Given the description of an element on the screen output the (x, y) to click on. 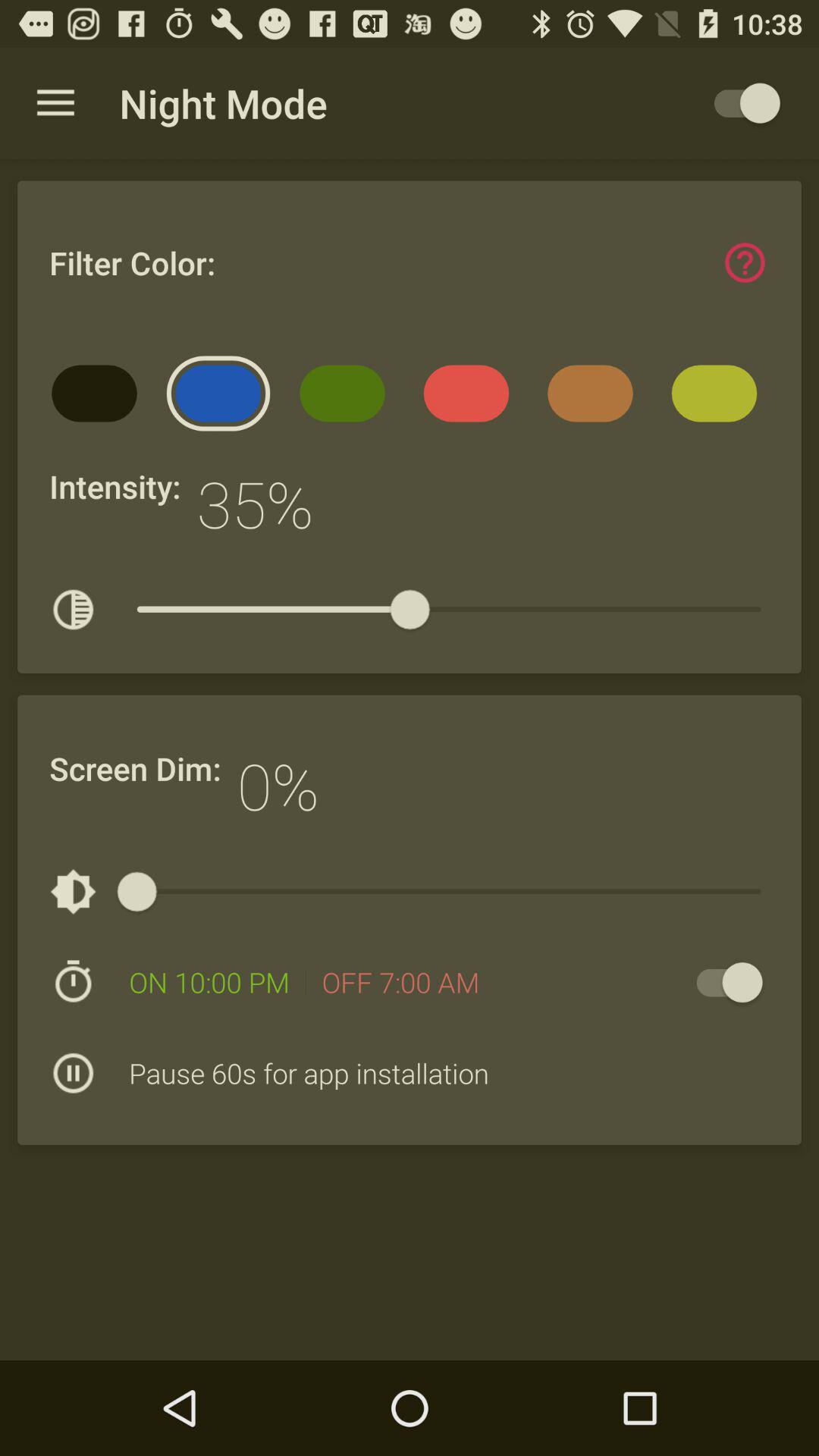
scroll until the off 7 00 (400, 982)
